Given the description of an element on the screen output the (x, y) to click on. 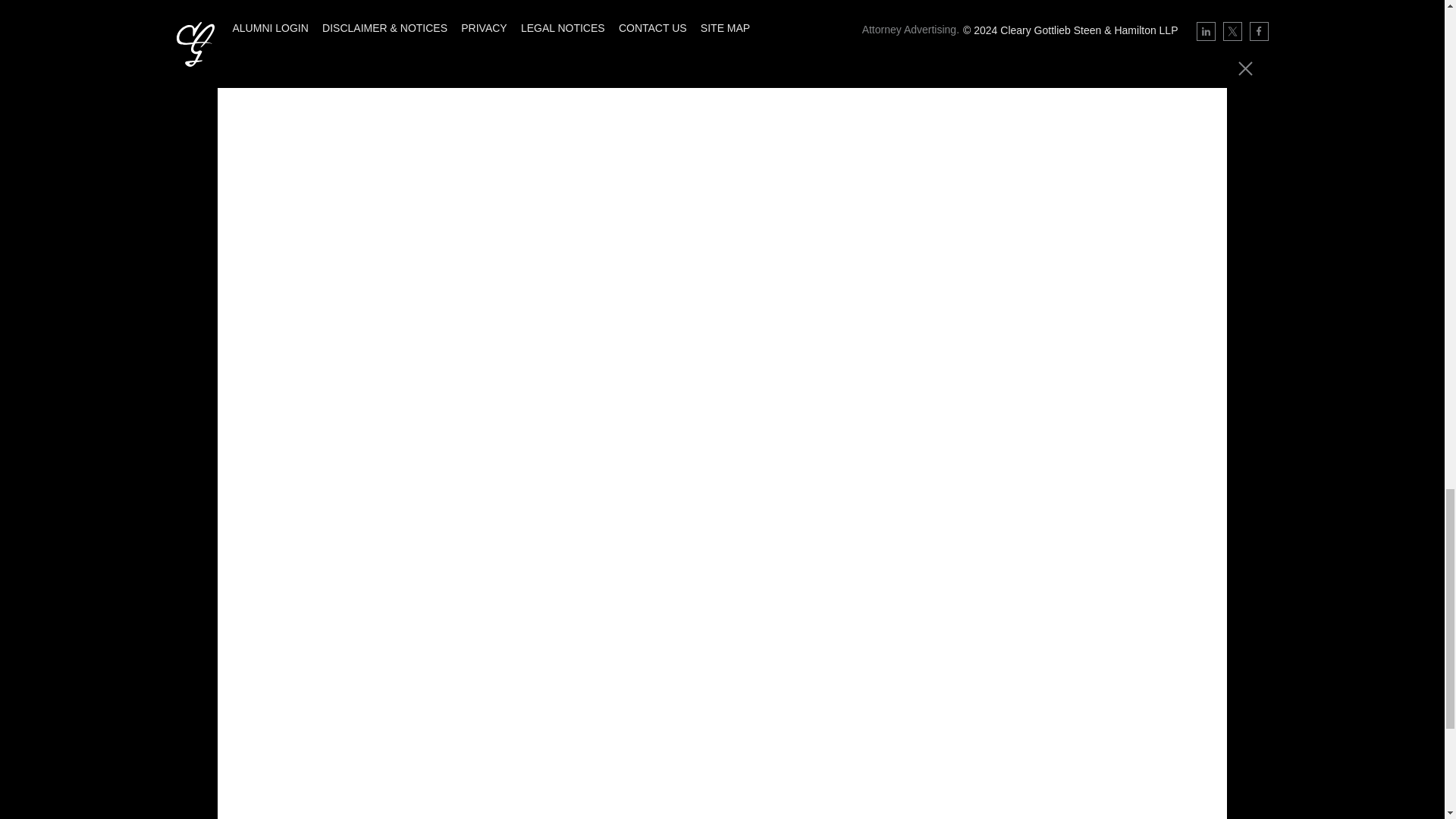
Privacy (483, 28)
Contact Us (652, 28)
Legal Notices (563, 28)
Site Map (724, 28)
Alumni Login (269, 28)
